Given the description of an element on the screen output the (x, y) to click on. 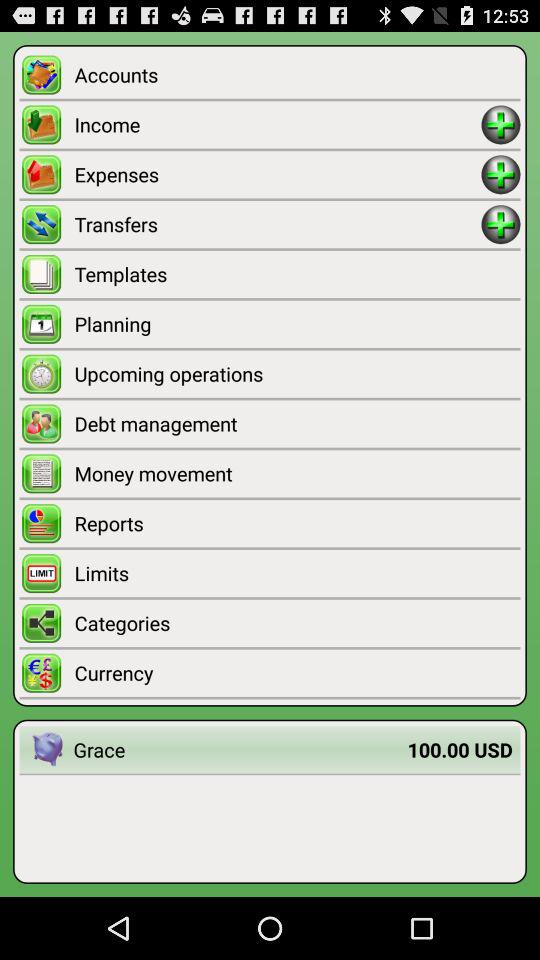
turn off app below the currency item (459, 749)
